Given the description of an element on the screen output the (x, y) to click on. 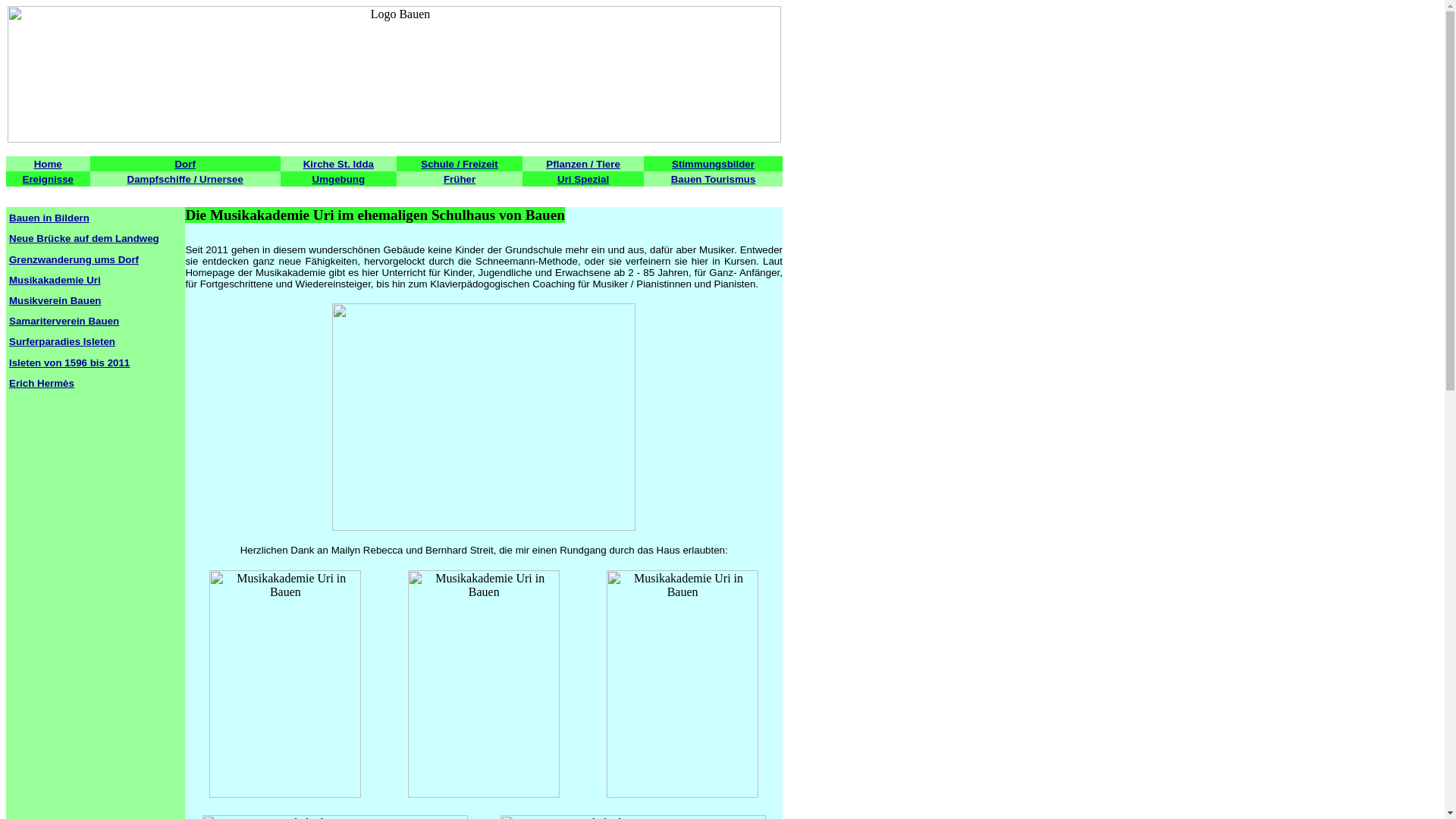
Samariterverein Bauen Element type: text (64, 320)
Ereignisse Element type: text (47, 178)
Stimmungsbilder Element type: text (712, 163)
Musikverein Bauen Element type: text (54, 300)
Uri Spezial Element type: text (582, 178)
Bauen in Bildern Element type: text (49, 217)
Dorf Element type: text (184, 163)
Surferparadies Isleten Element type: text (62, 341)
Grenzwanderung ums Dorf Element type: text (73, 259)
Umgebung Element type: text (338, 178)
Bauen Tourismus Element type: text (713, 178)
Dampfschiffe / Urnersee Element type: text (185, 178)
Kirche St. Idda Element type: text (338, 163)
Musikakademie Uri Element type: text (54, 279)
Isleten von 1596 bis 2011 Element type: text (69, 362)
Schule / Freizeit Element type: text (458, 163)
Pflanzen / Tiere Element type: text (583, 163)
Home Element type: text (48, 163)
